Given the description of an element on the screen output the (x, y) to click on. 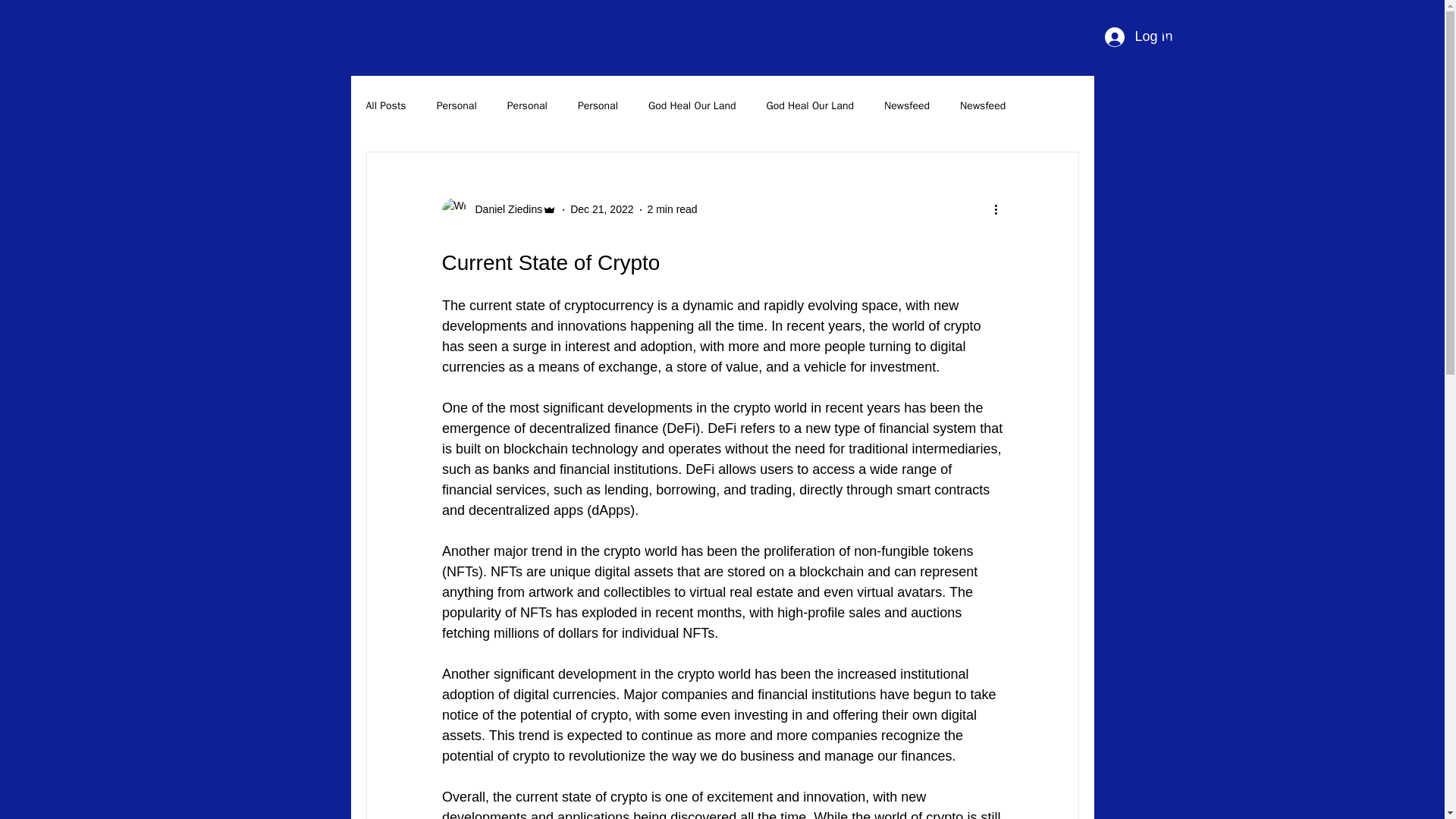
God Heal Our Land (691, 106)
Log In (1125, 36)
Dec 21, 2022 (601, 209)
Daniel Ziedins (498, 209)
Personal (526, 106)
All Posts (385, 106)
Personal (456, 106)
Newsfeed (982, 106)
Daniel Ziedins (503, 209)
2 min read (672, 209)
